Given the description of an element on the screen output the (x, y) to click on. 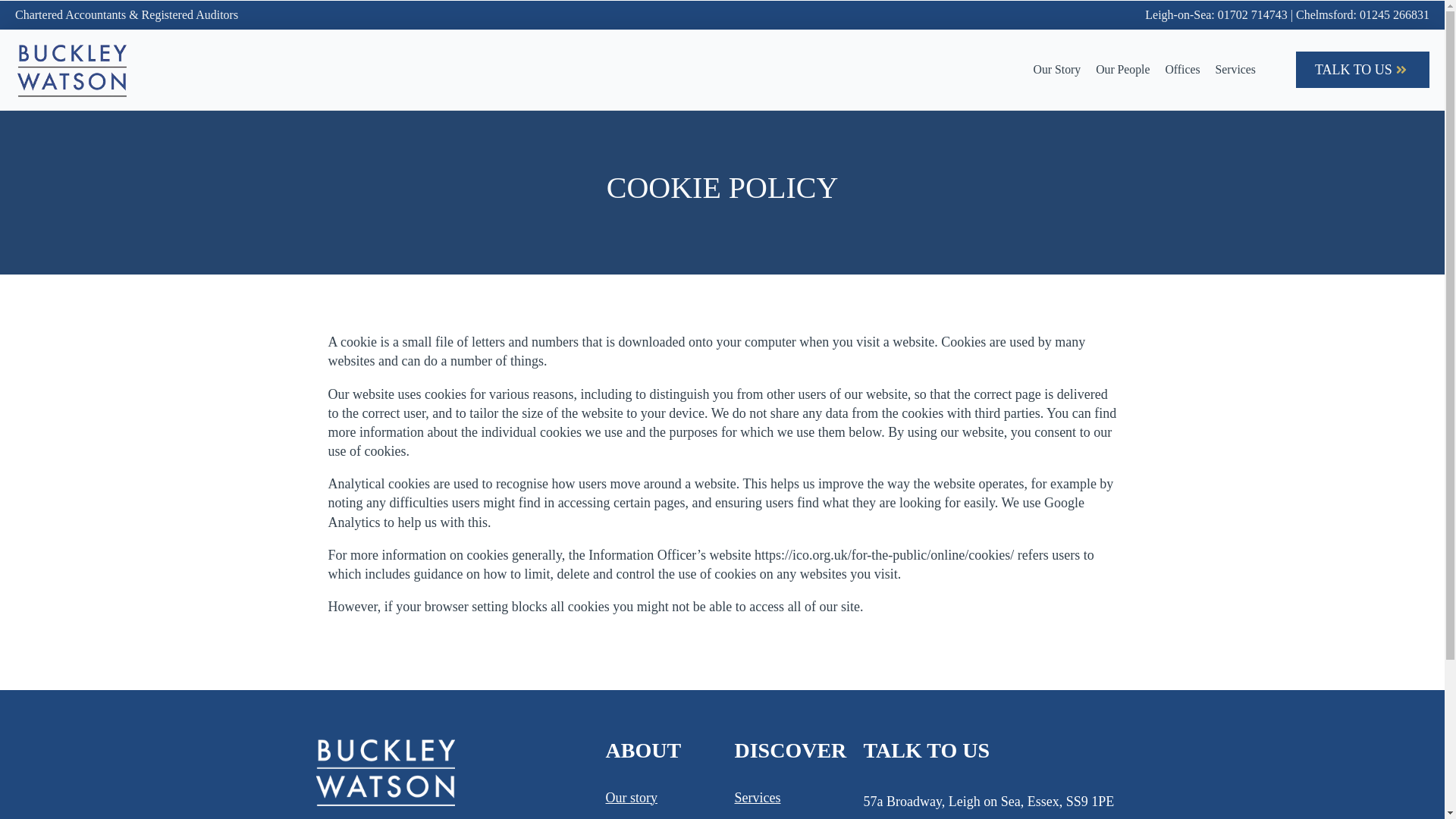
01245 266831 (1394, 14)
Testimonials (768, 816)
Our story (631, 797)
01702 714743 (1252, 14)
TALK TO US (1362, 69)
Services (756, 797)
Our people (635, 816)
